Given the description of an element on the screen output the (x, y) to click on. 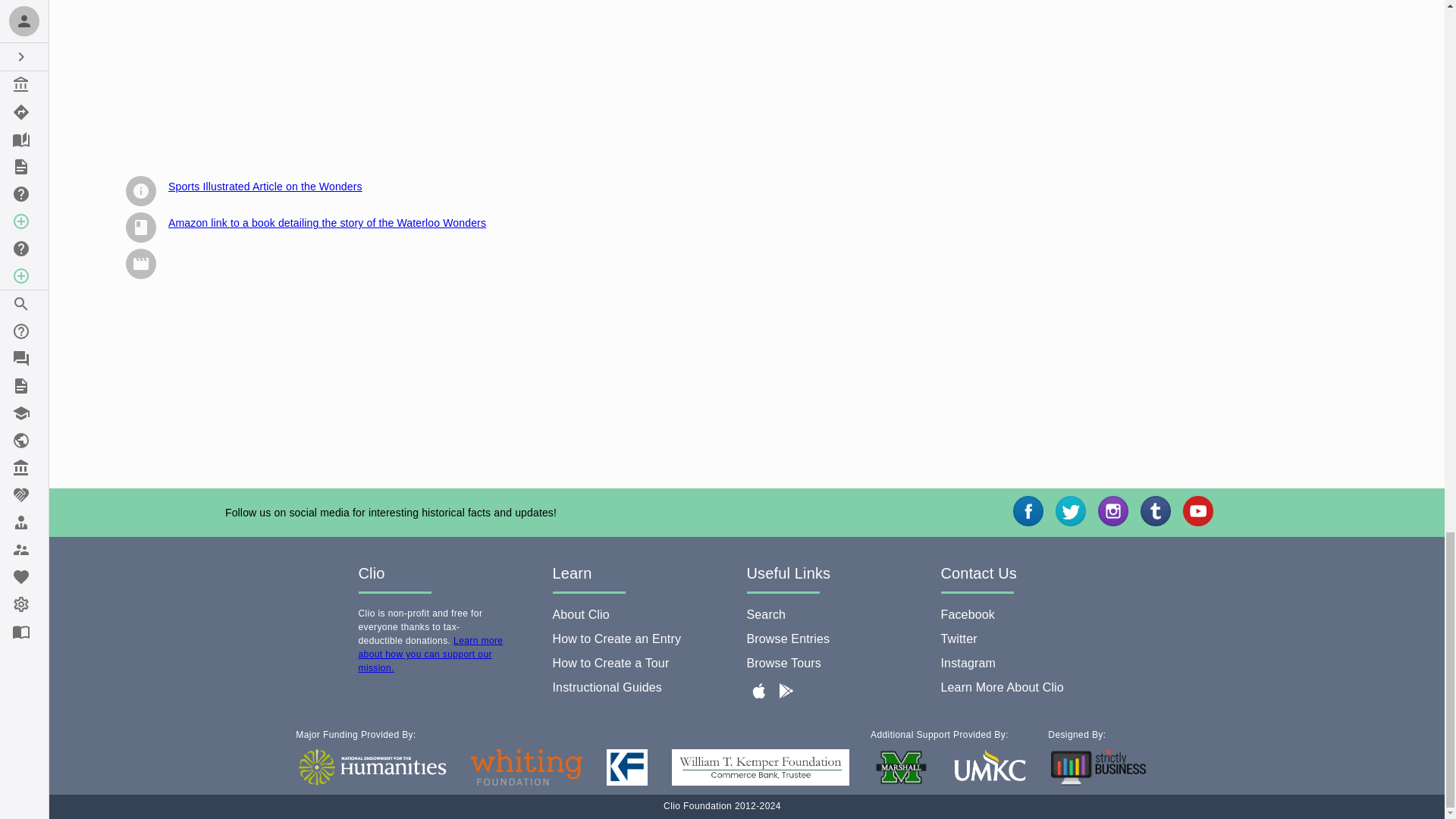
Sports Illustrated Article on the Wonders (265, 186)
